Given the description of an element on the screen output the (x, y) to click on. 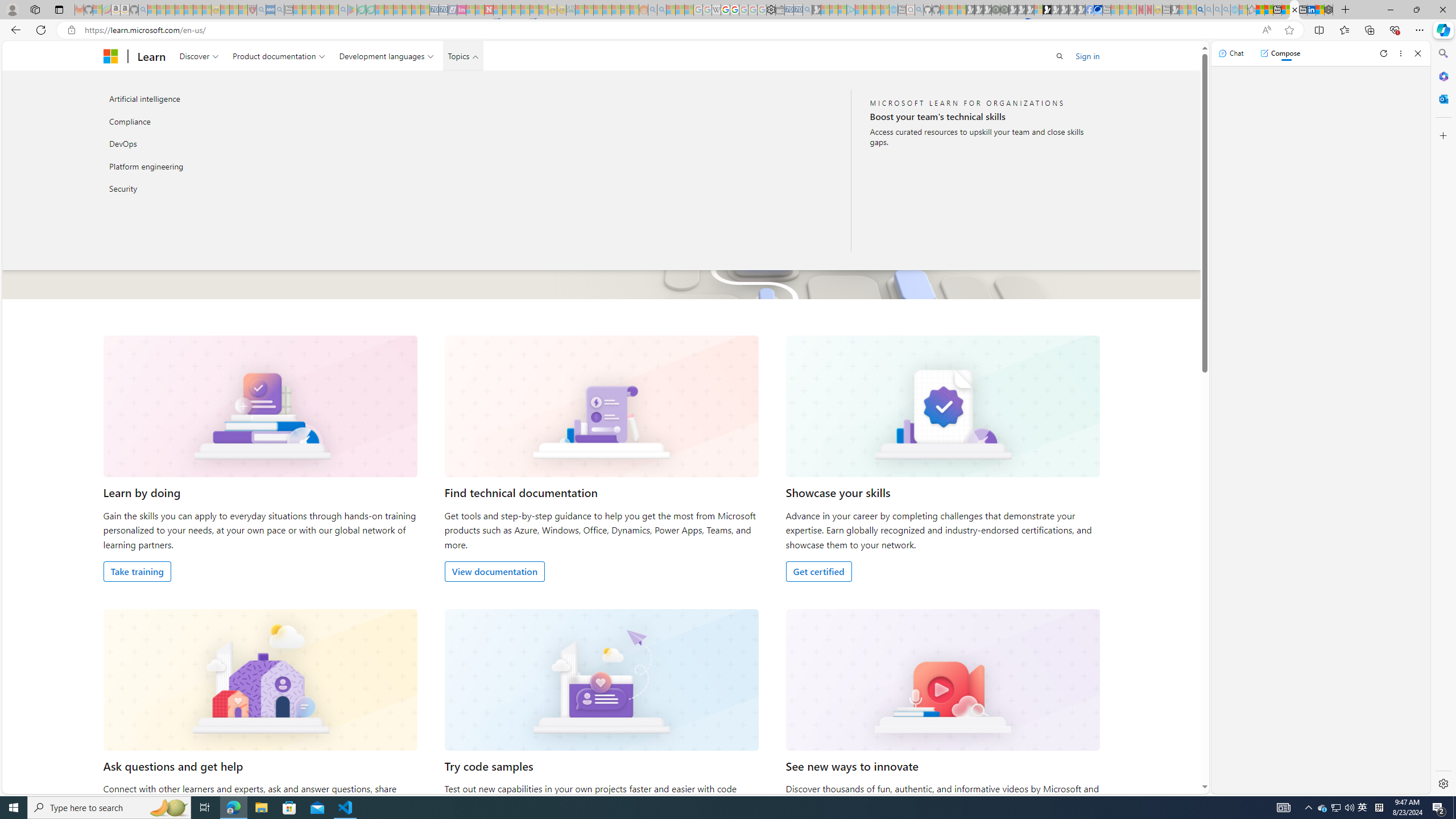
MSN - Sleeping (1174, 9)
utah sues federal government - Search - Sleeping (279, 9)
Platform engineering (224, 166)
Learn (151, 56)
Artificial intelligence (224, 99)
